Given the description of an element on the screen output the (x, y) to click on. 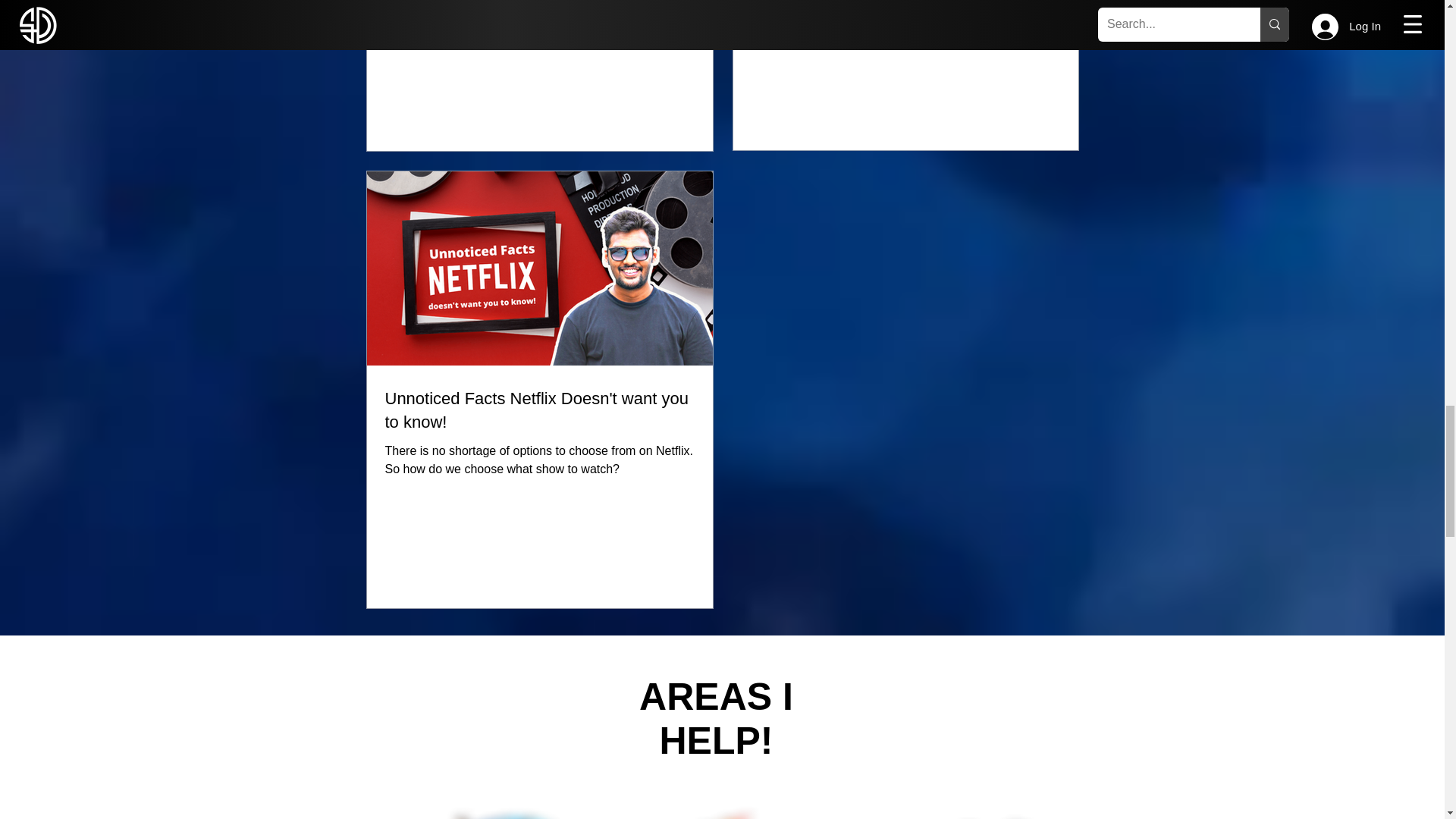
Marketing-and-Sales-Illustration-1-remov (976, 806)
Unnoticed Facts Netflix Doesn't want you to know! (539, 410)
